Given the description of an element on the screen output the (x, y) to click on. 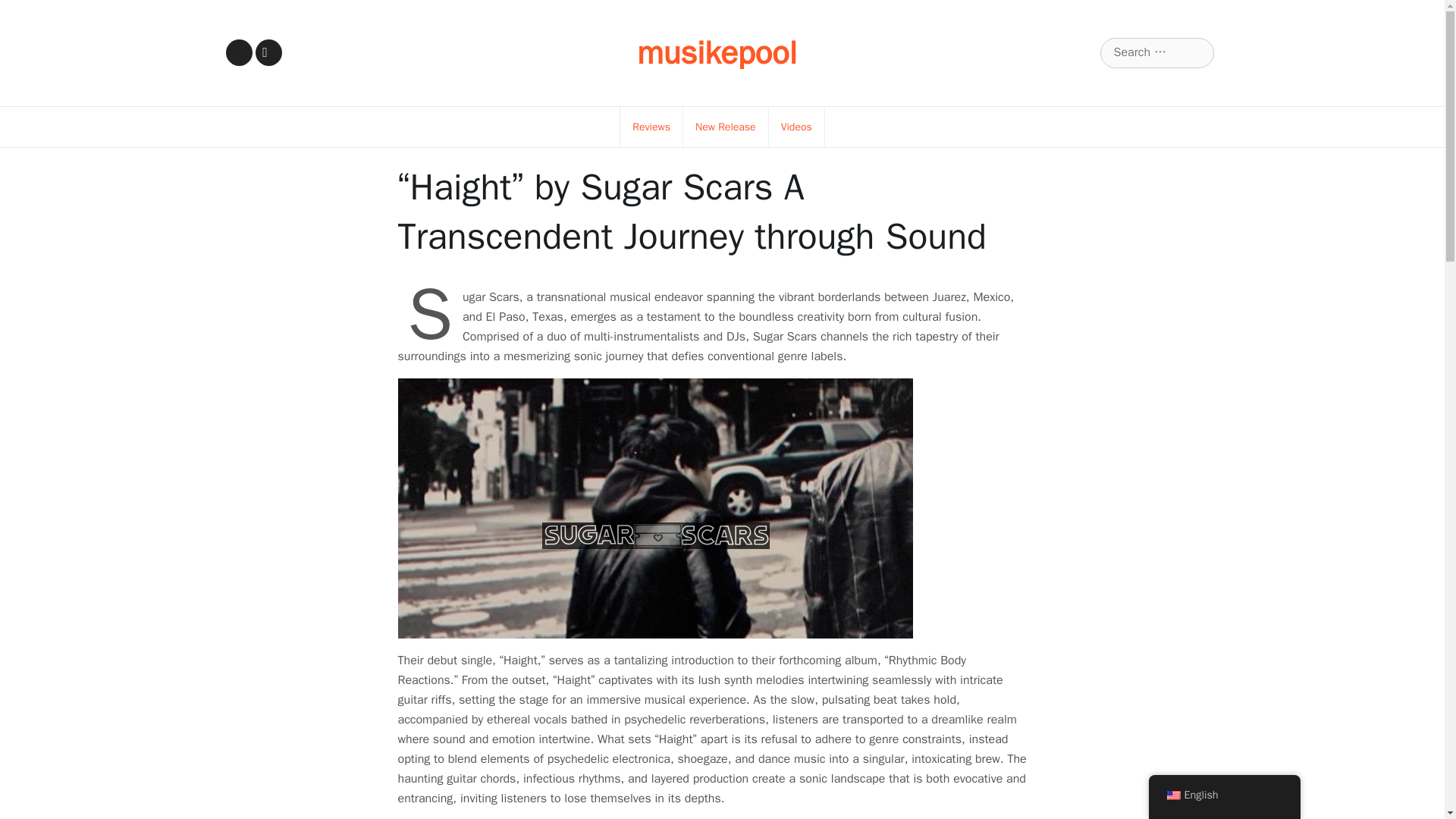
musikepool (716, 52)
Menu Item (269, 52)
New Release (725, 127)
Search (31, 12)
English (1172, 795)
Reviews (650, 127)
Menu Item (238, 52)
